Given the description of an element on the screen output the (x, y) to click on. 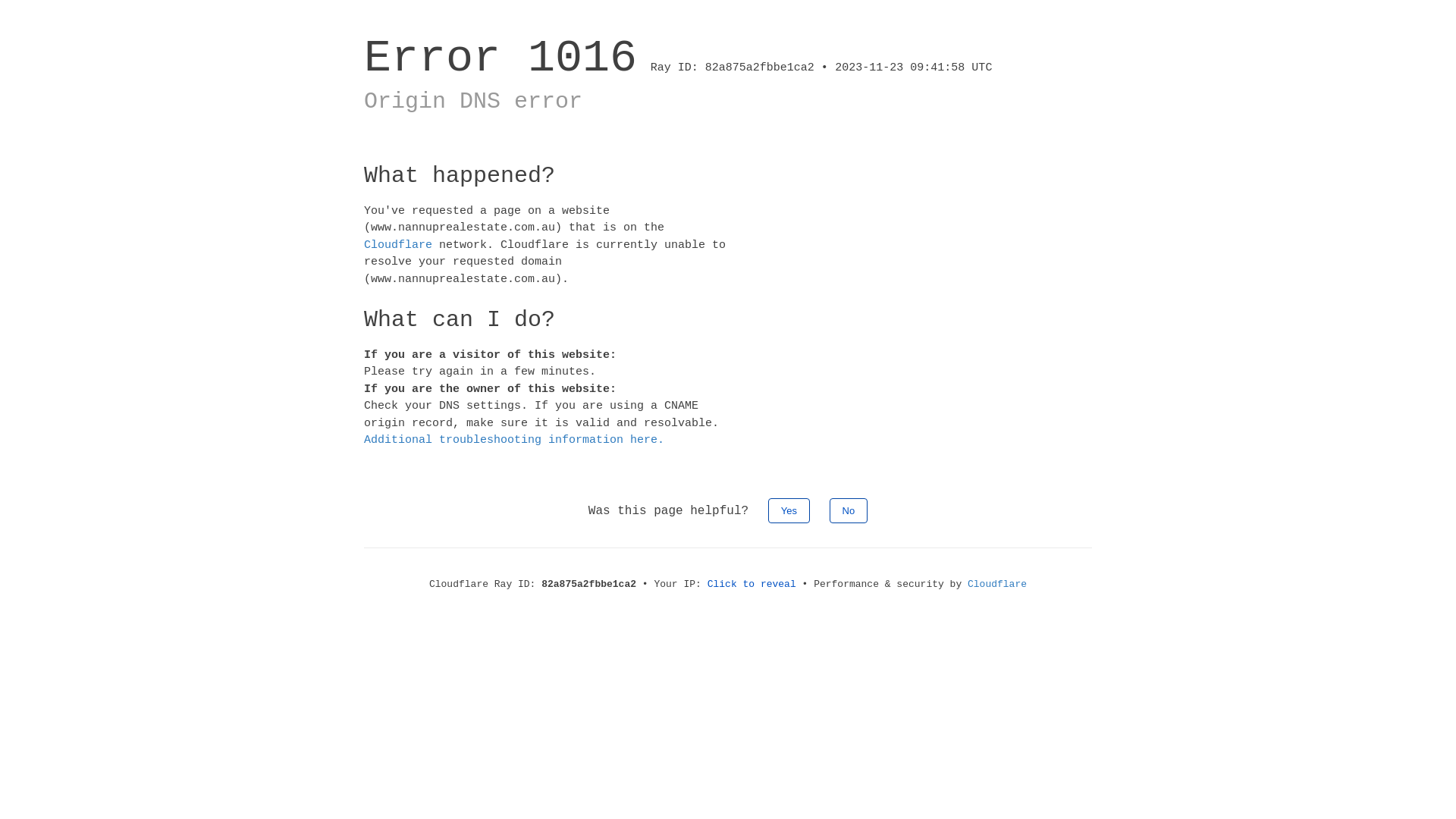
No Element type: text (848, 509)
Additional troubleshooting information here. Element type: text (514, 439)
Yes Element type: text (788, 509)
Click to reveal Element type: text (751, 583)
Cloudflare Element type: text (398, 244)
Cloudflare Element type: text (996, 583)
